Given the description of an element on the screen output the (x, y) to click on. 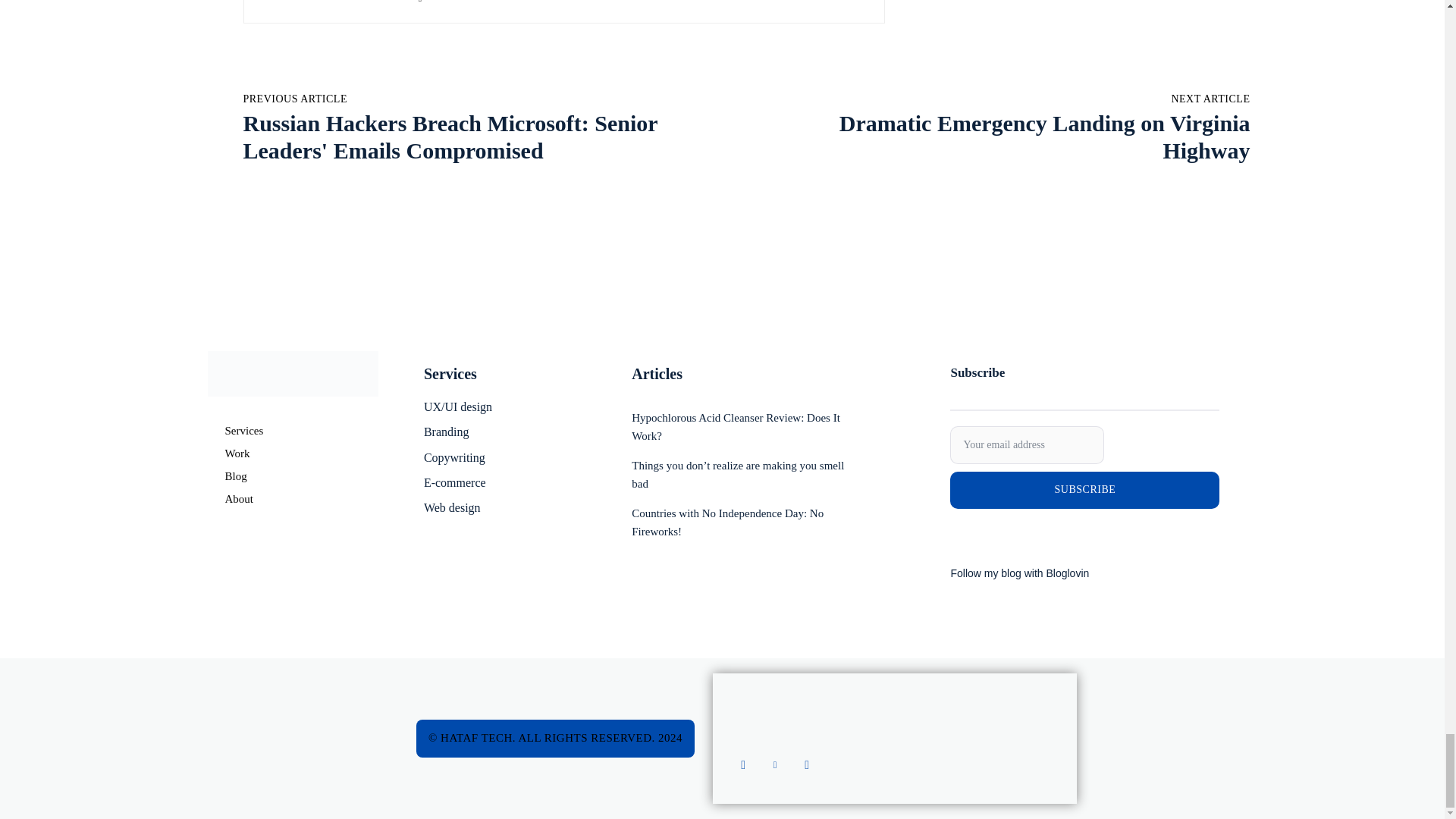
Talha Quraishi (295, 3)
